Given the description of an element on the screen output the (x, y) to click on. 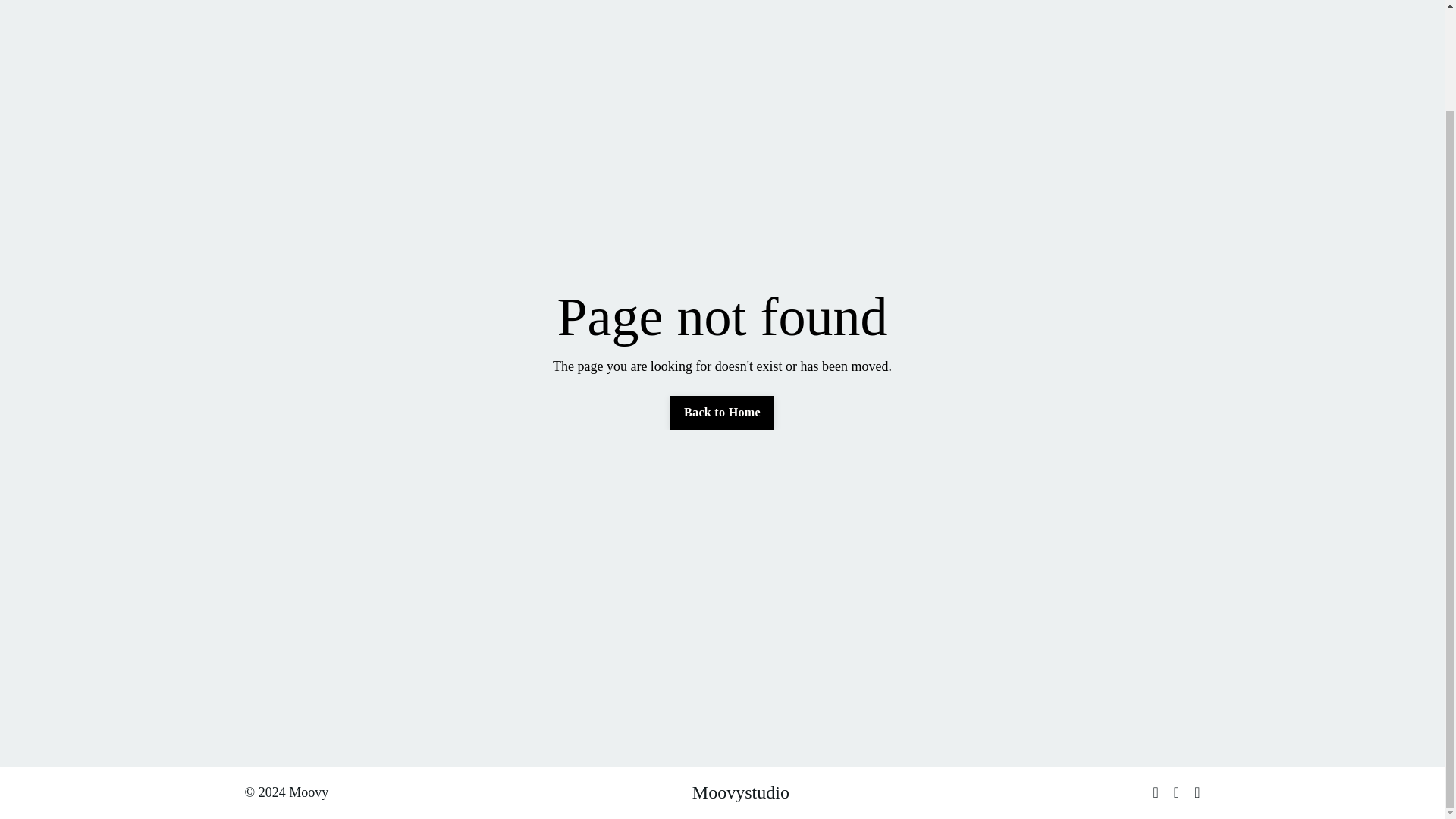
Moovystudio (741, 791)
Back to Home (721, 412)
